Given the description of an element on the screen output the (x, y) to click on. 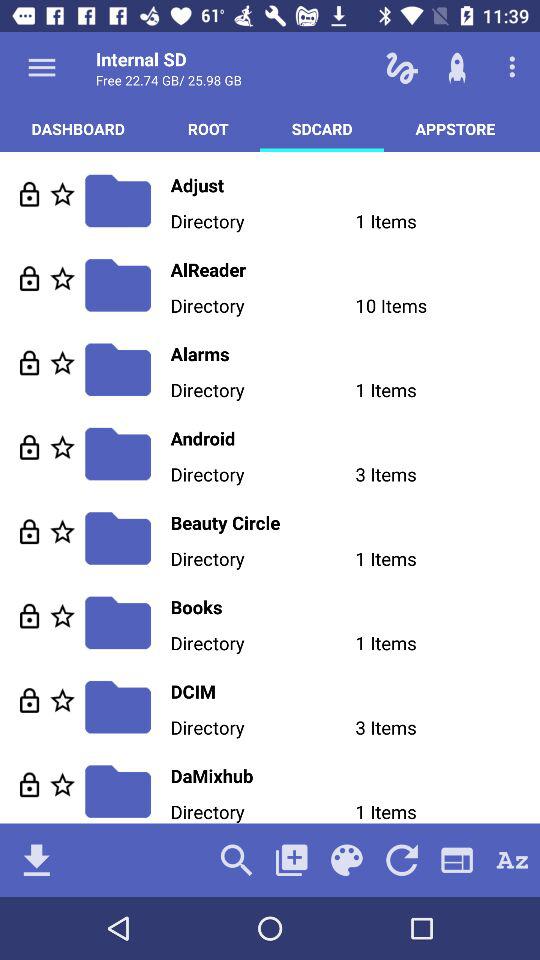
toggle folder lock (29, 193)
